Given the description of an element on the screen output the (x, y) to click on. 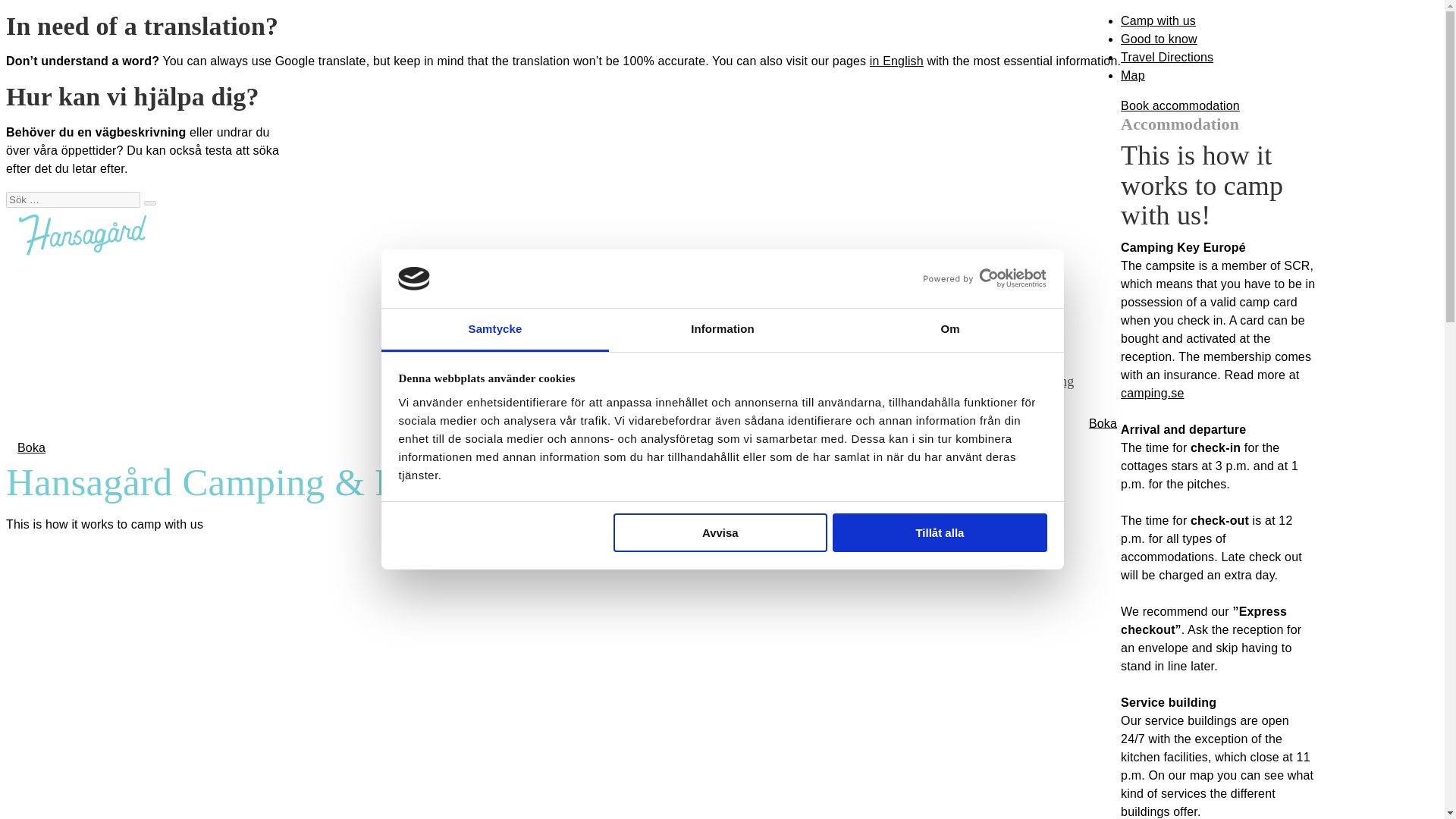
Avvisa (719, 532)
Om (948, 330)
in English (896, 60)
Hem (1021, 278)
Samtycke (494, 330)
Information (721, 330)
